Given the description of an element on the screen output the (x, y) to click on. 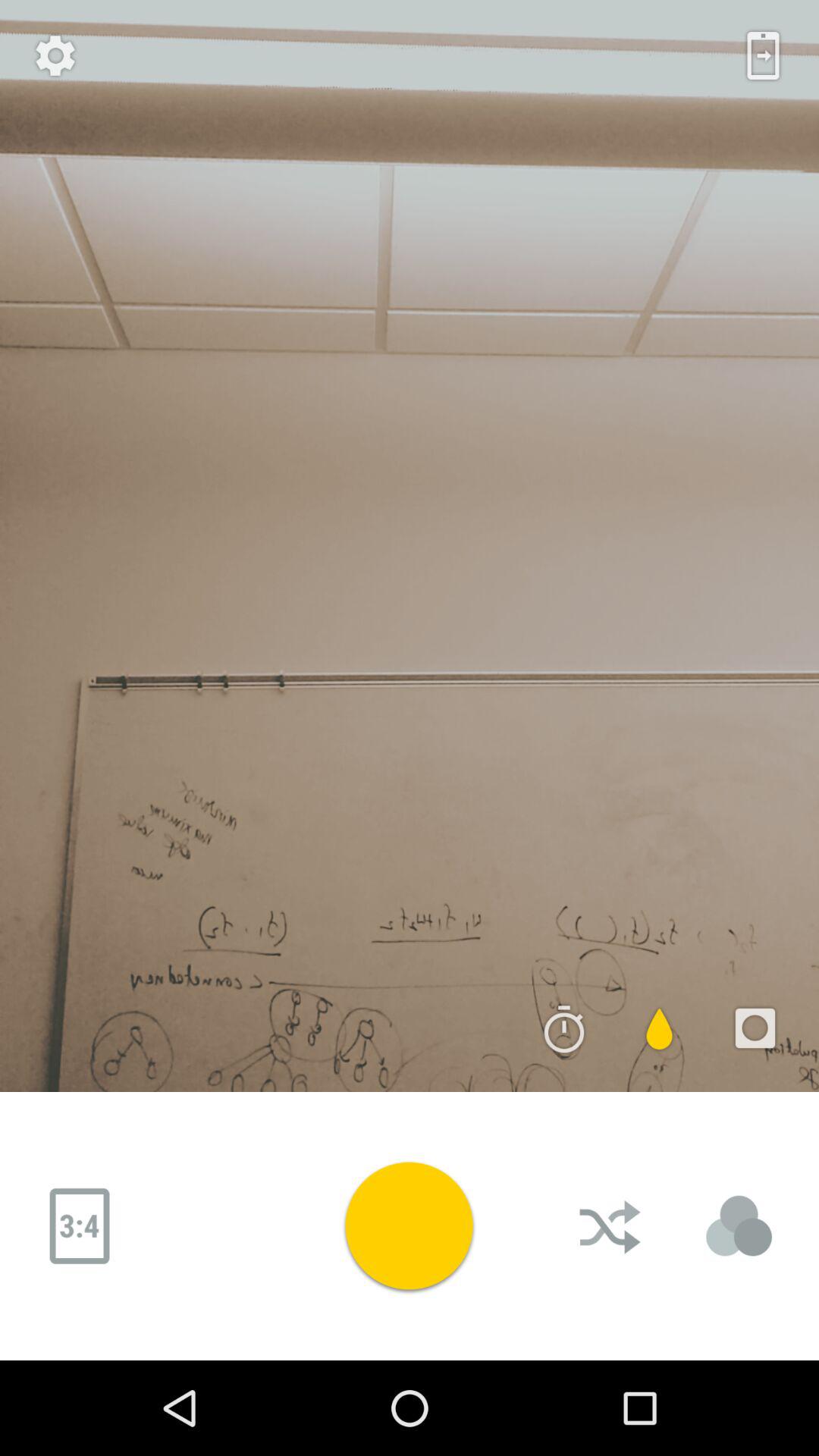
change colors (739, 1226)
